Given the description of an element on the screen output the (x, y) to click on. 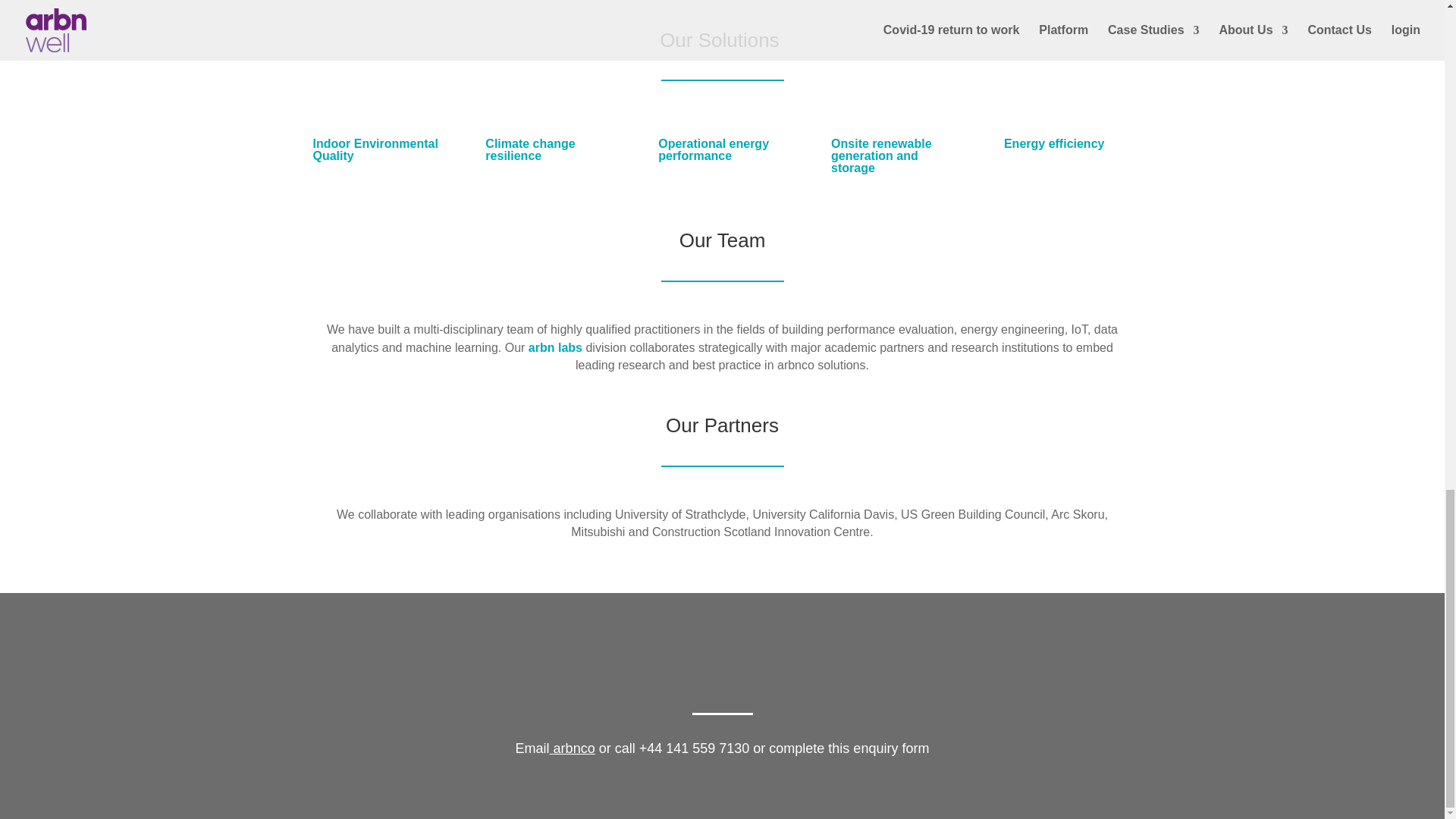
arbn labs (555, 347)
Onsite renewable generation and storage (881, 155)
Energy efficiency (1054, 143)
Climate change resilience  (529, 149)
arbnco (574, 748)
Indoor Environmental Quality (375, 149)
Operational energy performance (713, 149)
